Given the description of an element on the screen output the (x, y) to click on. 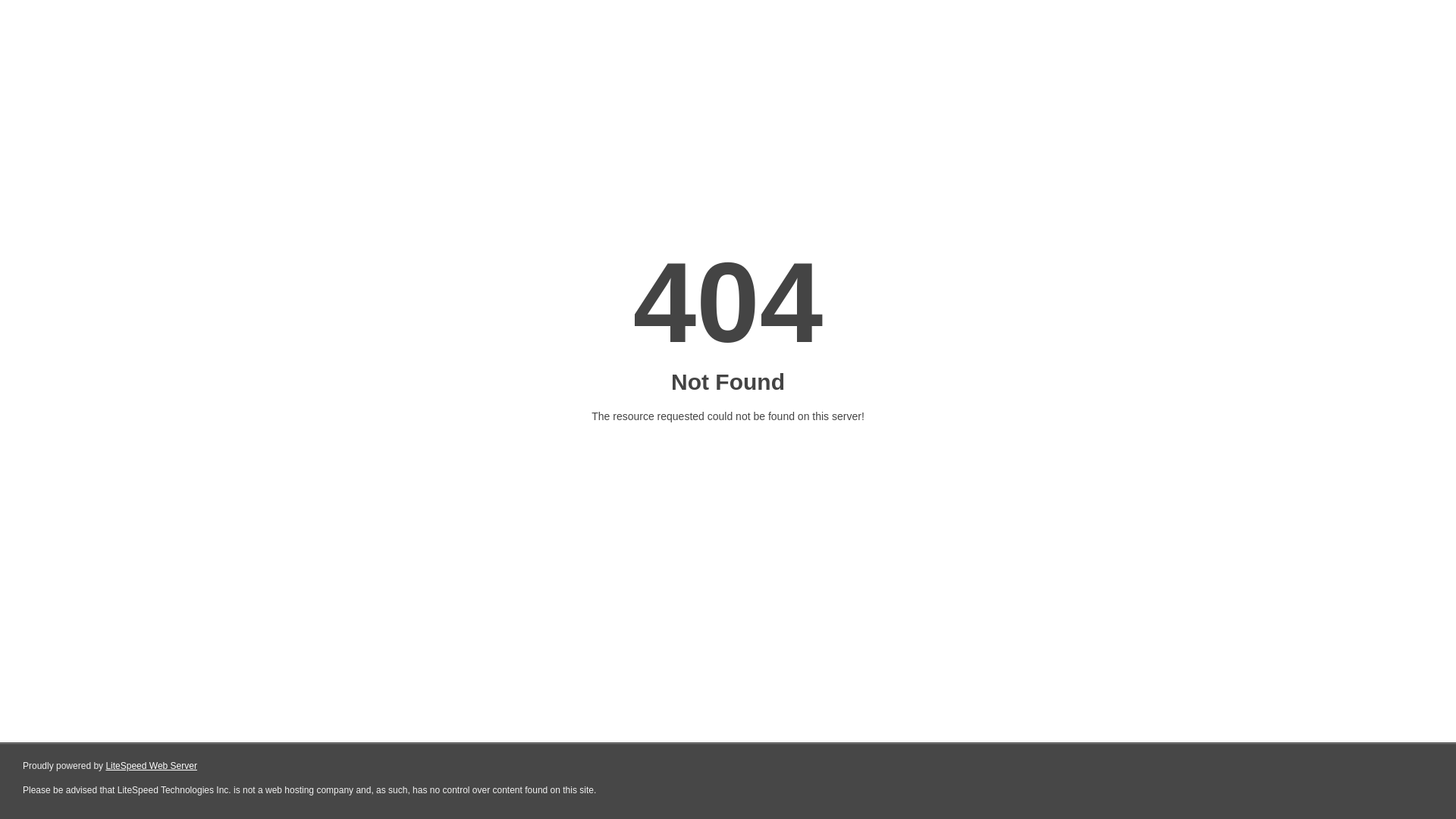
LiteSpeed Web Server Element type: text (151, 765)
